Given the description of an element on the screen output the (x, y) to click on. 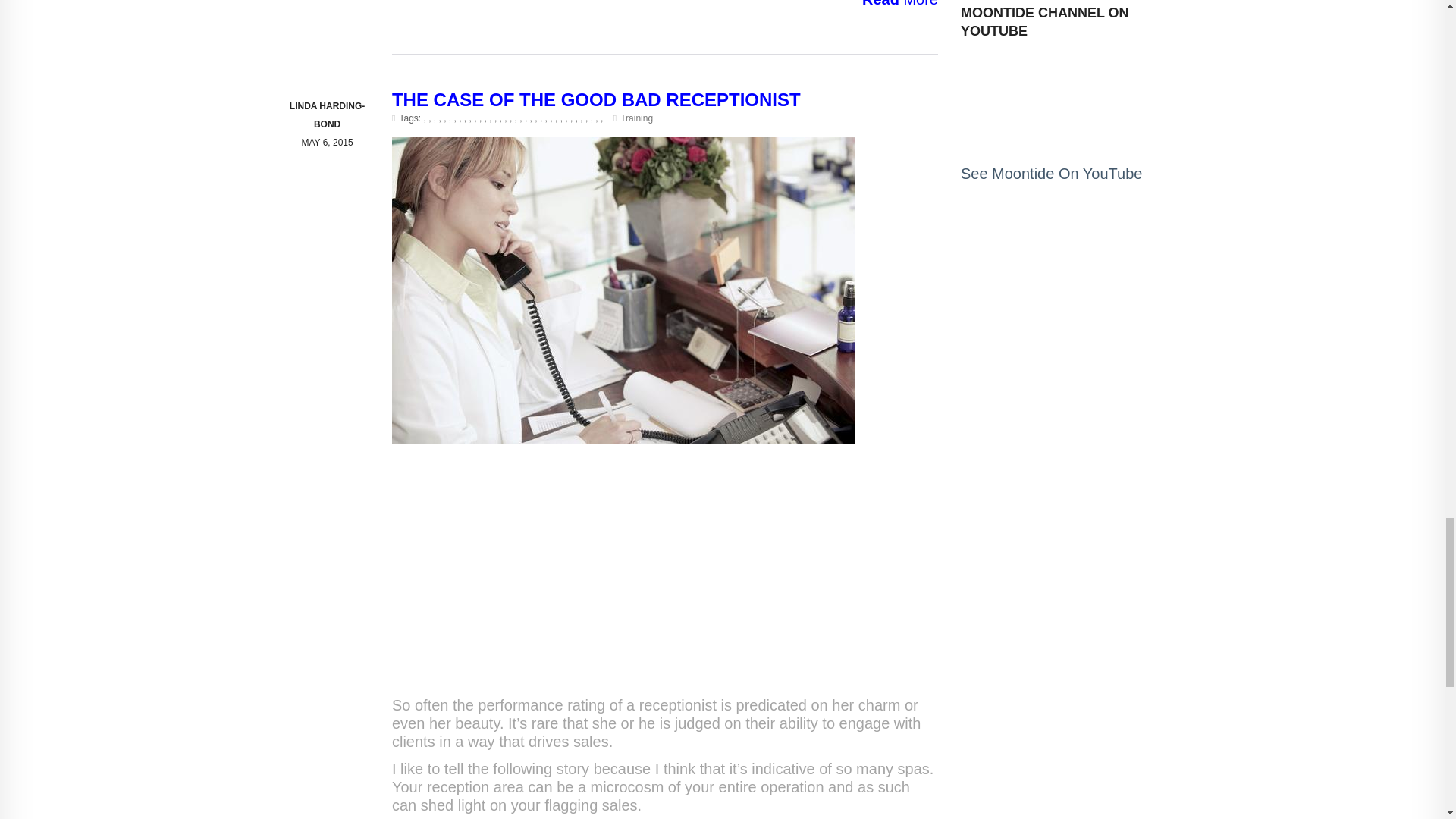
See Moontide On YouTube (1050, 173)
Permalink to The Case of the Good Bad Receptionist (595, 99)
